Given the description of an element on the screen output the (x, y) to click on. 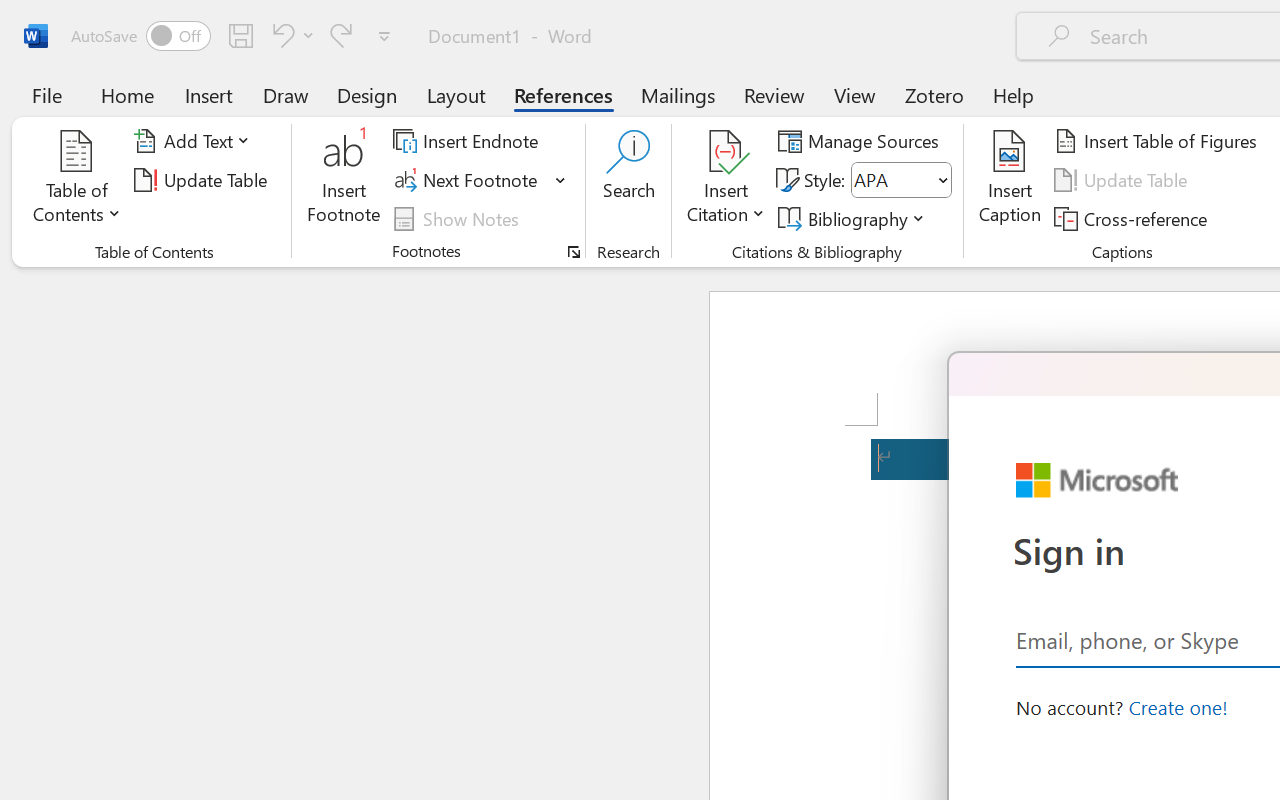
Redo Apply Quick Style (341, 35)
Insert Citation (726, 179)
Style (892, 179)
Manage Sources... (861, 141)
Table of Contents (77, 179)
Bibliography (854, 218)
